Given the description of an element on the screen output the (x, y) to click on. 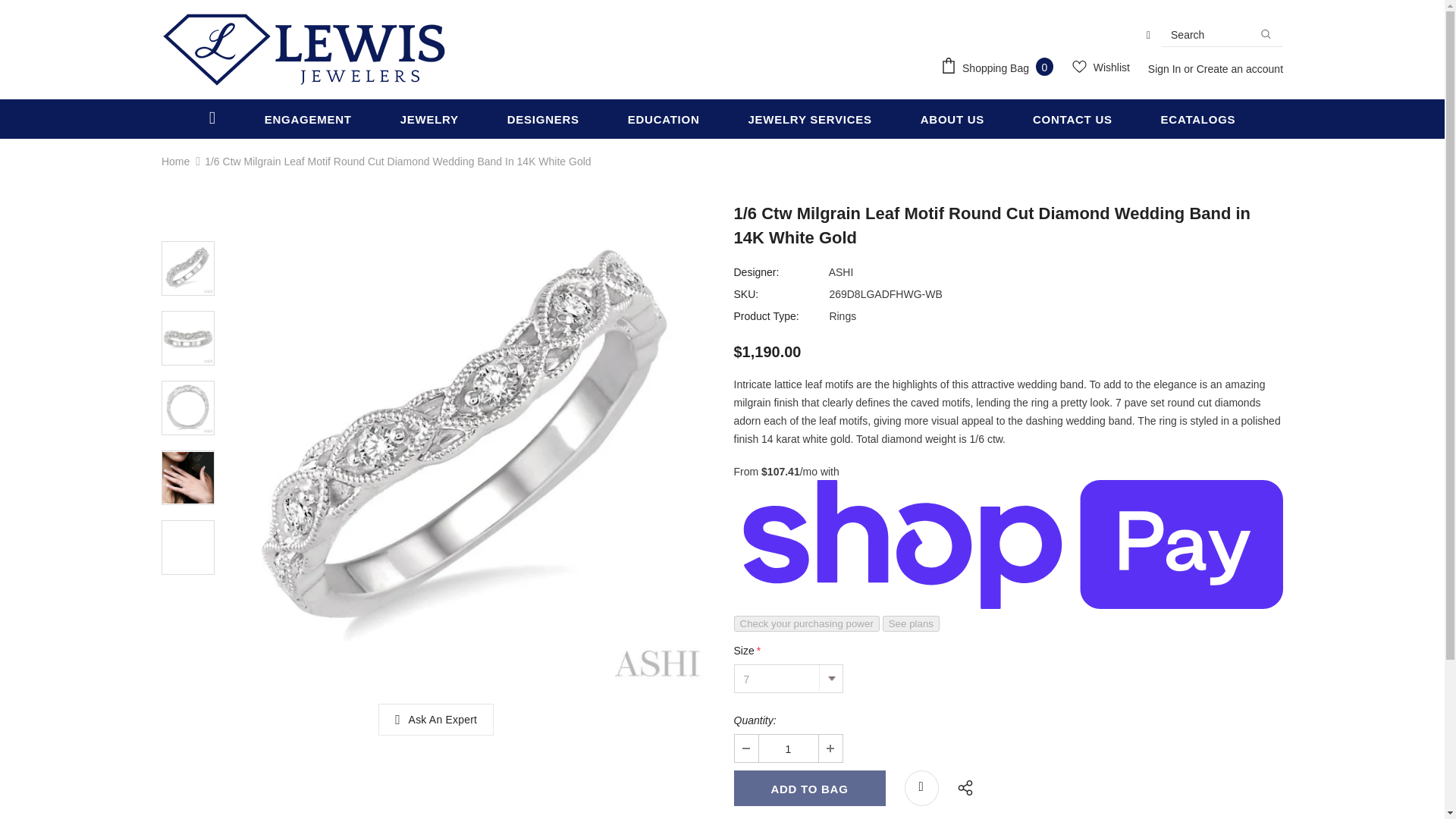
1 (787, 748)
Add to Bag (809, 787)
Lewis Jewelers (303, 49)
